Given the description of an element on the screen output the (x, y) to click on. 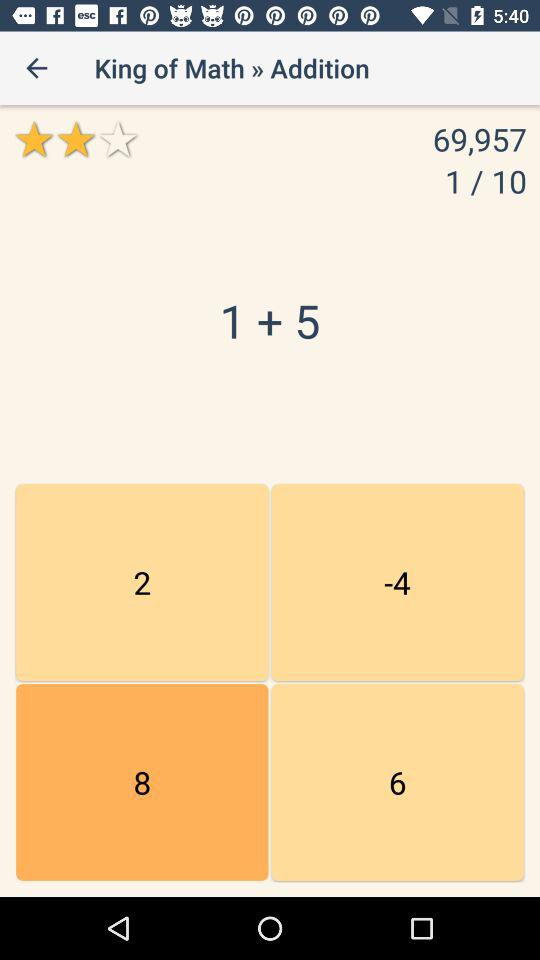
tap the icon to the right of the 15 (397, 781)
